Given the description of an element on the screen output the (x, y) to click on. 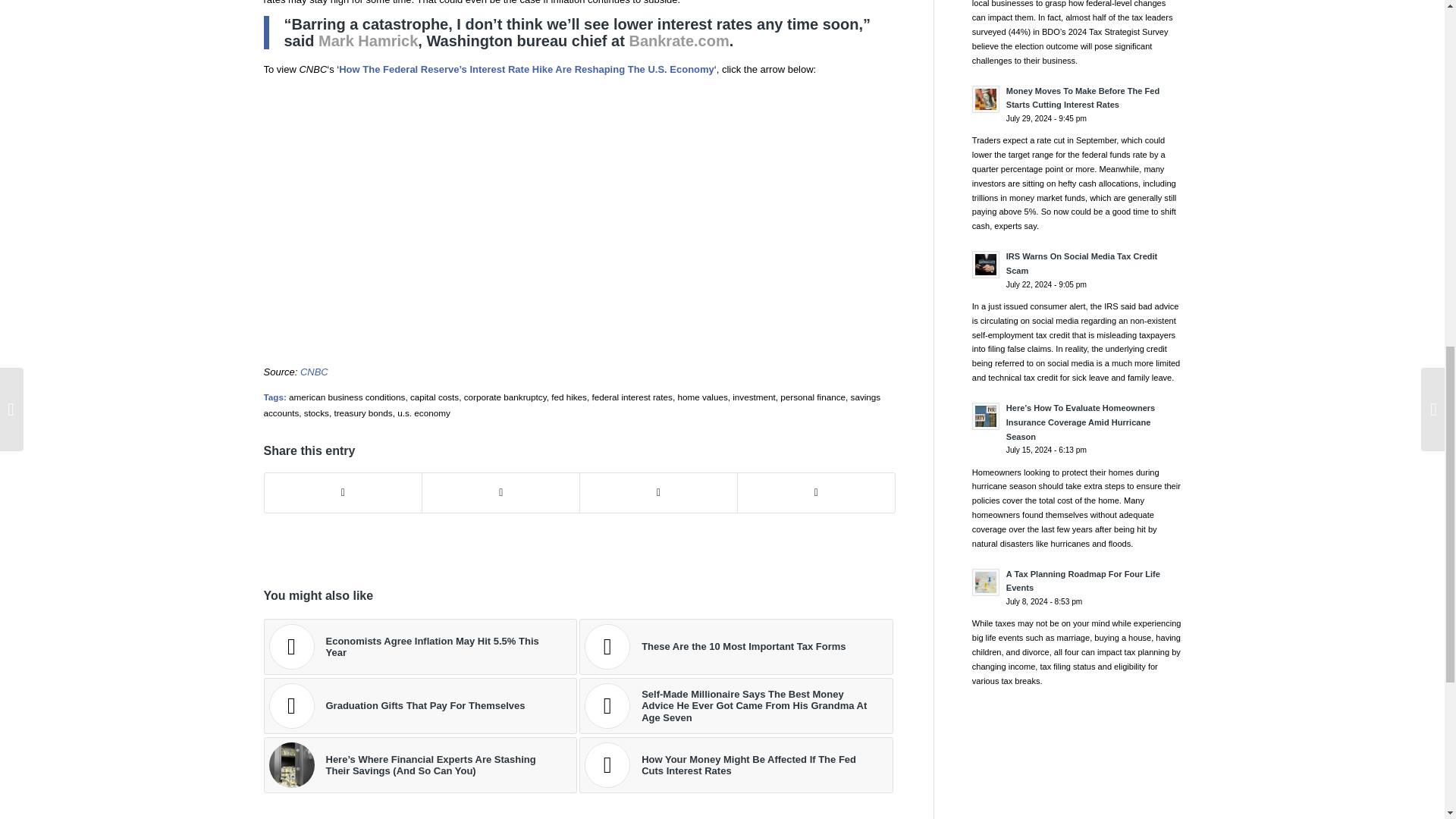
stocks (316, 412)
home values (701, 397)
These Are the 10 Most Important Tax Forms (736, 646)
american business conditions (346, 397)
These Are the 10 Most Important Tax Forms (736, 646)
capital costs (434, 397)
fed hikes (568, 397)
treasury bonds (362, 412)
Graduation Gifts That Pay For Themselves (420, 705)
